Given the description of an element on the screen output the (x, y) to click on. 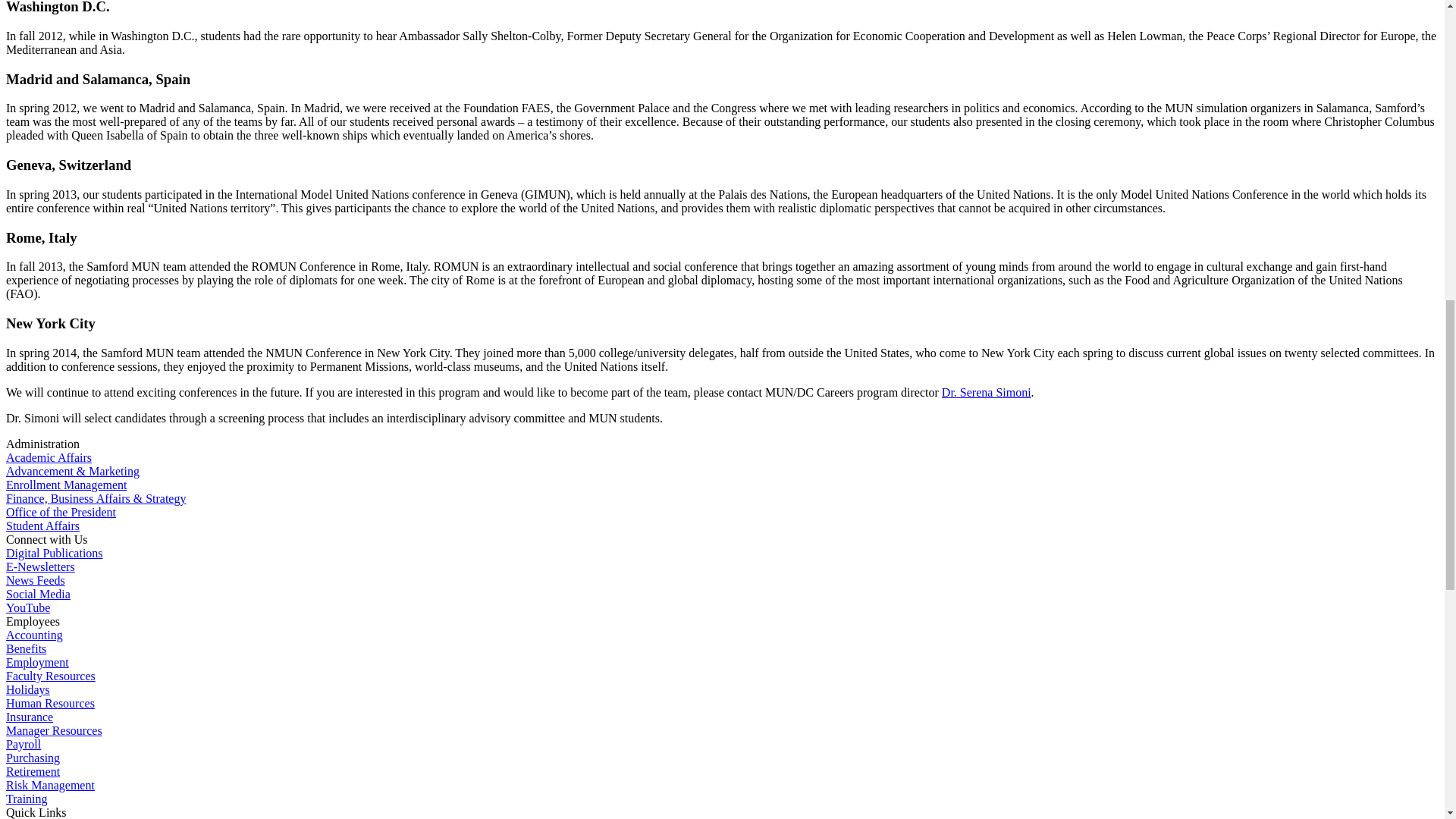
Academic Affairs (48, 457)
Subscribe to Samford news feeds. (35, 580)
Subscribe to Samford's YouTube channel. (27, 607)
Dr. Serena Simoni (986, 391)
Subscribe to receive Samford e-Newsletters (40, 566)
Enrollment Management (66, 484)
Connect with us on social media. (37, 594)
Office of the President (60, 512)
Student Affairs (42, 525)
Subscribe to Samford print publications. (54, 553)
